Given the description of an element on the screen output the (x, y) to click on. 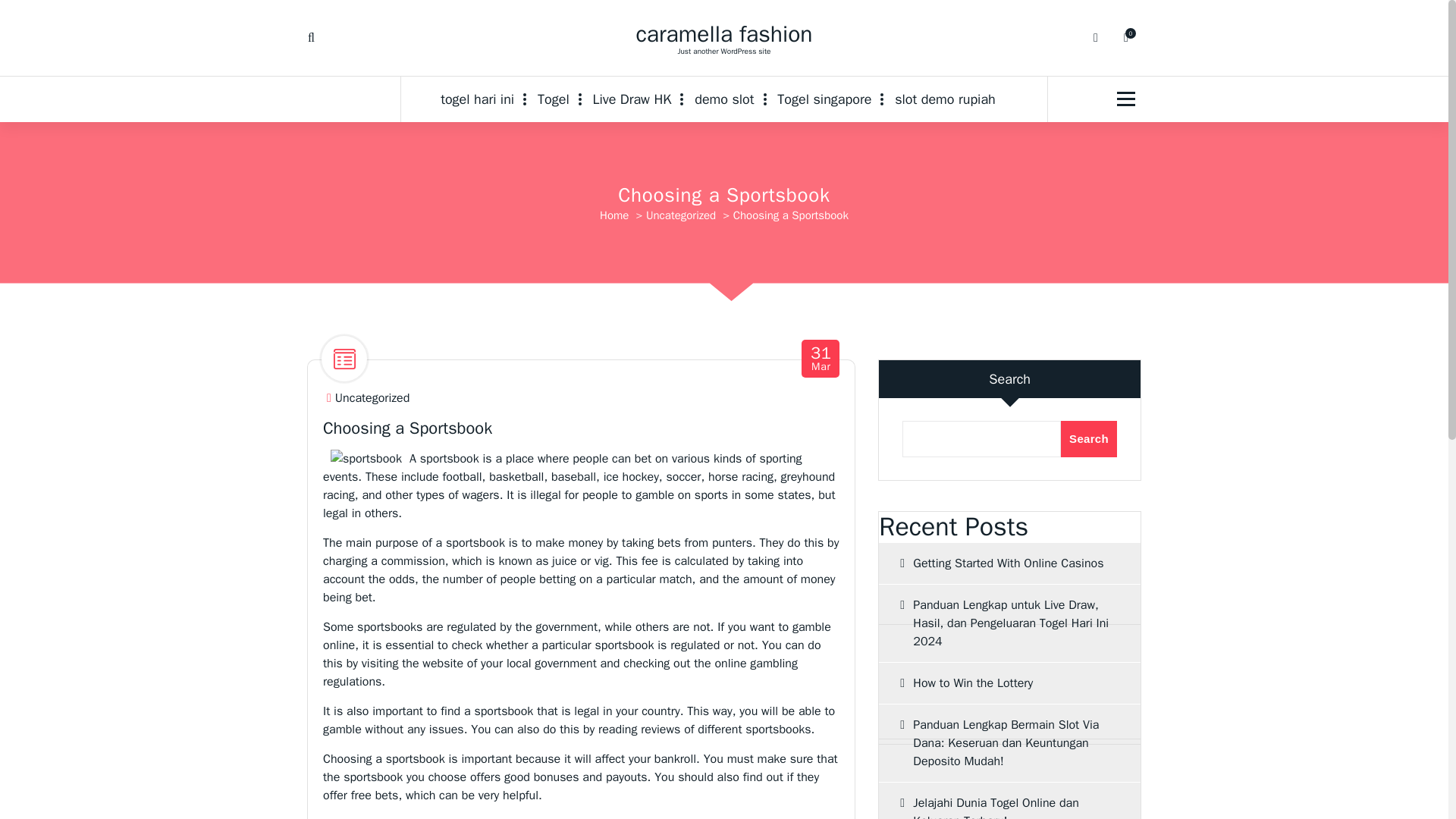
togel hari ini (483, 99)
Jelajahi Dunia Togel Online dan Keluaran Terbaru! (1009, 800)
Uncategorized (371, 398)
Togel (552, 99)
Home (820, 358)
demo slot (613, 214)
Togel singapore (723, 99)
caramella fashion (824, 99)
Togel (723, 33)
